Given the description of an element on the screen output the (x, y) to click on. 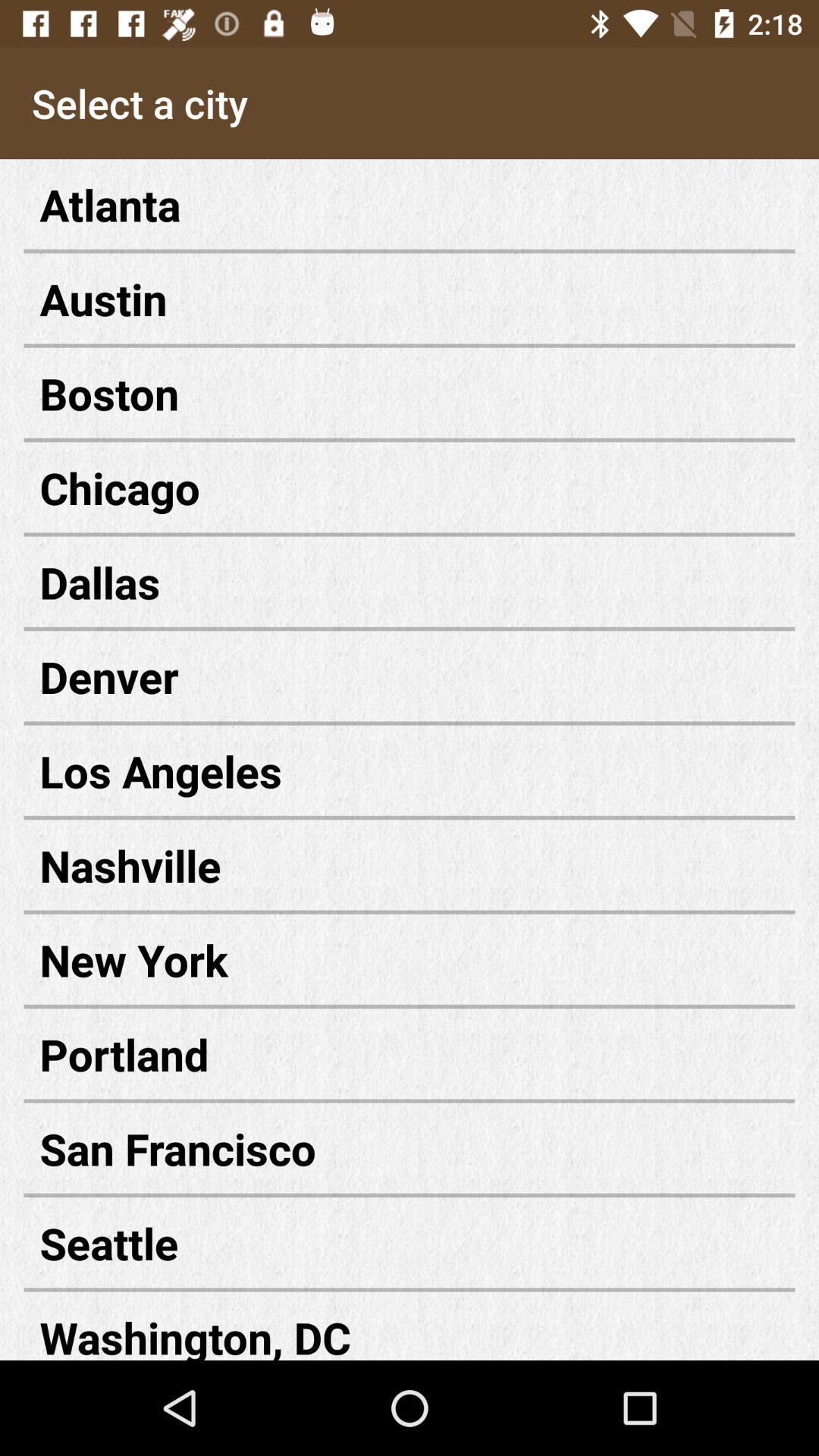
scroll to the dallas item (409, 581)
